Given the description of an element on the screen output the (x, y) to click on. 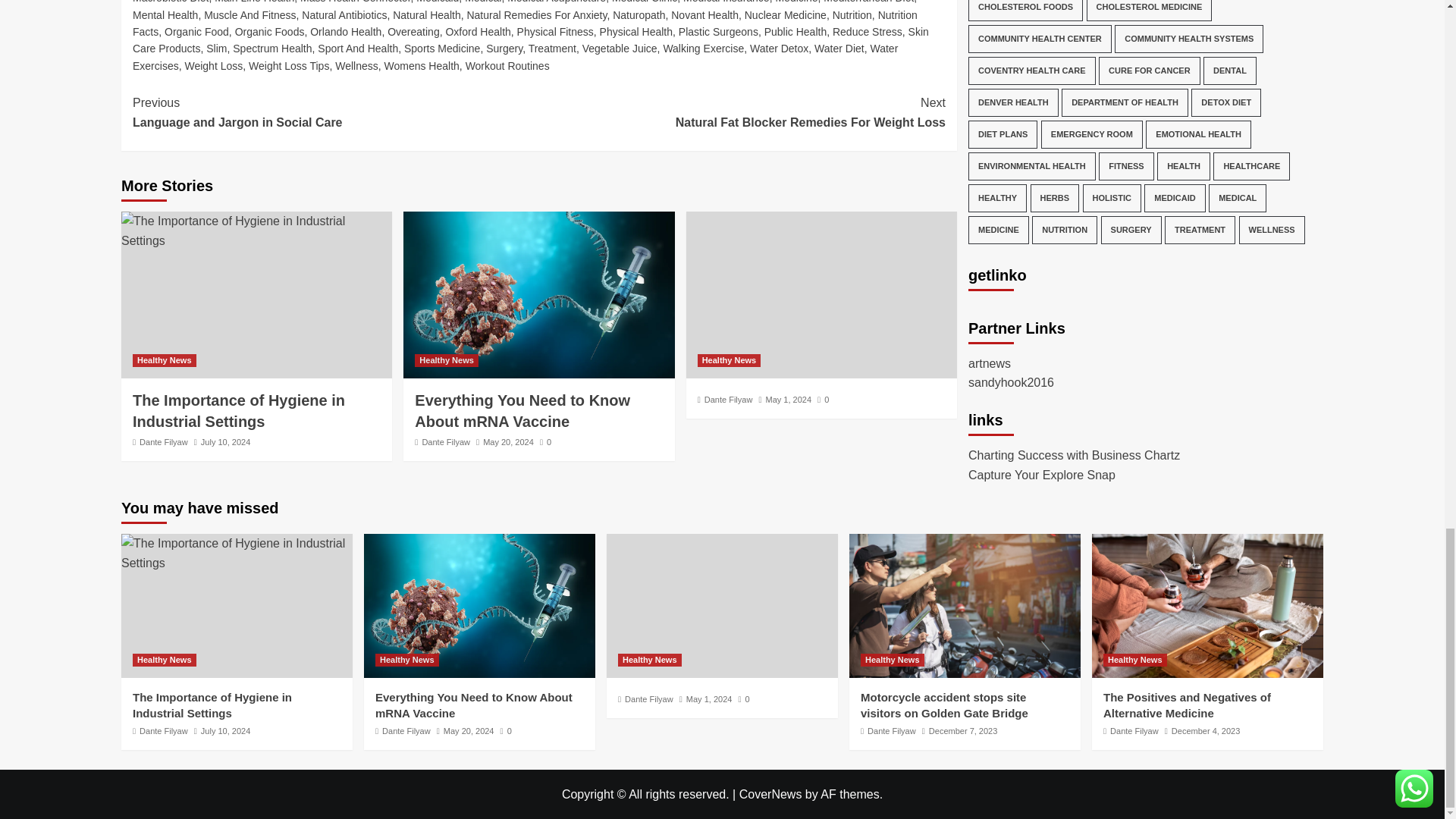
The Positives and Negatives of Alternative Medicine (1207, 605)
The Importance of Hygiene in Industrial Settings (236, 552)
The Importance of Hygiene in Industrial Settings (255, 230)
